Given the description of an element on the screen output the (x, y) to click on. 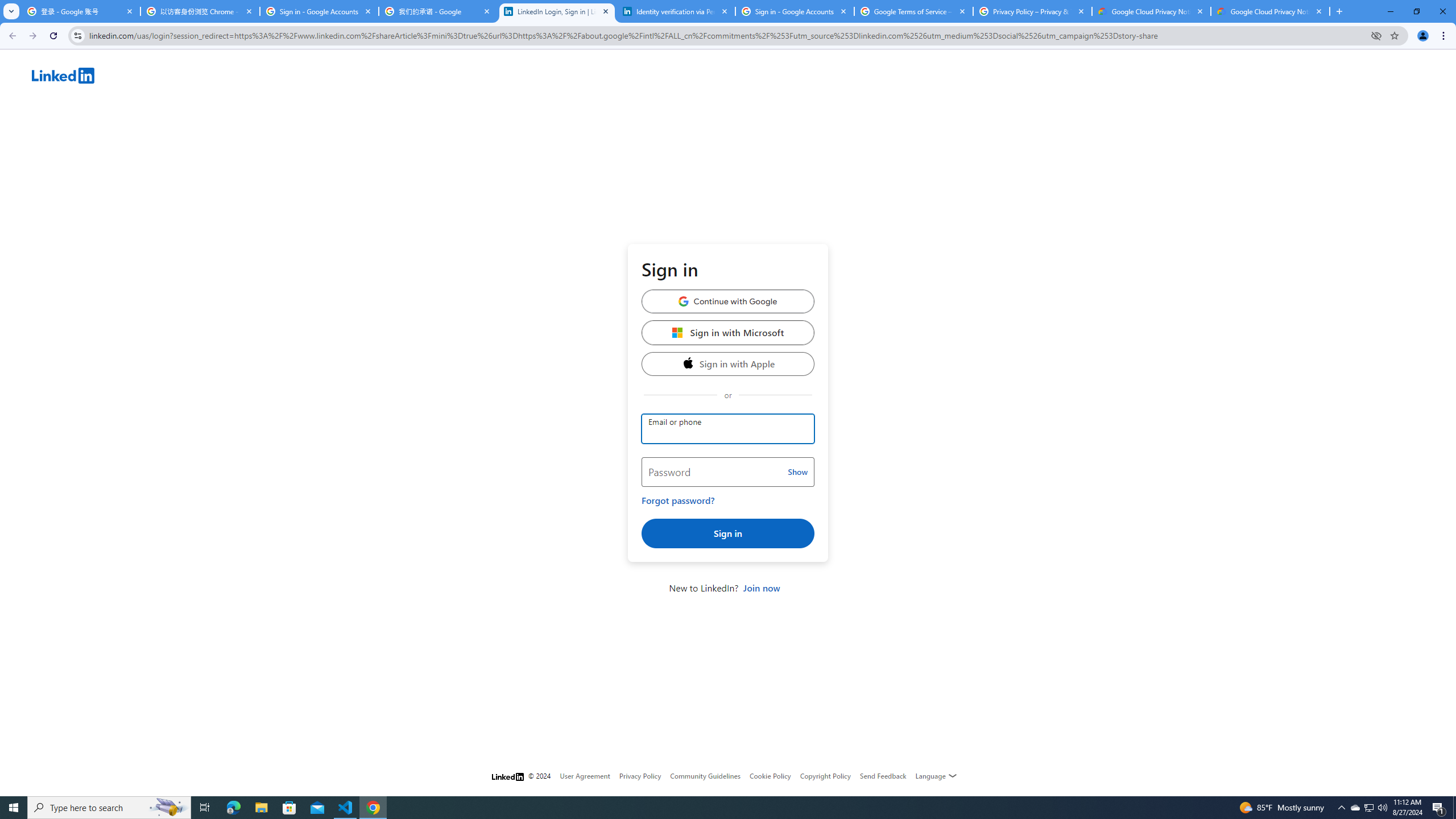
Sign in - Google Accounts (319, 11)
Language (935, 775)
Community Guidelines (705, 775)
Microsoft (677, 332)
AutomationID: feedback-request (882, 775)
Google Cloud Privacy Notice (1270, 11)
Sign in with Apple (727, 363)
Join now (761, 588)
